Given the description of an element on the screen output the (x, y) to click on. 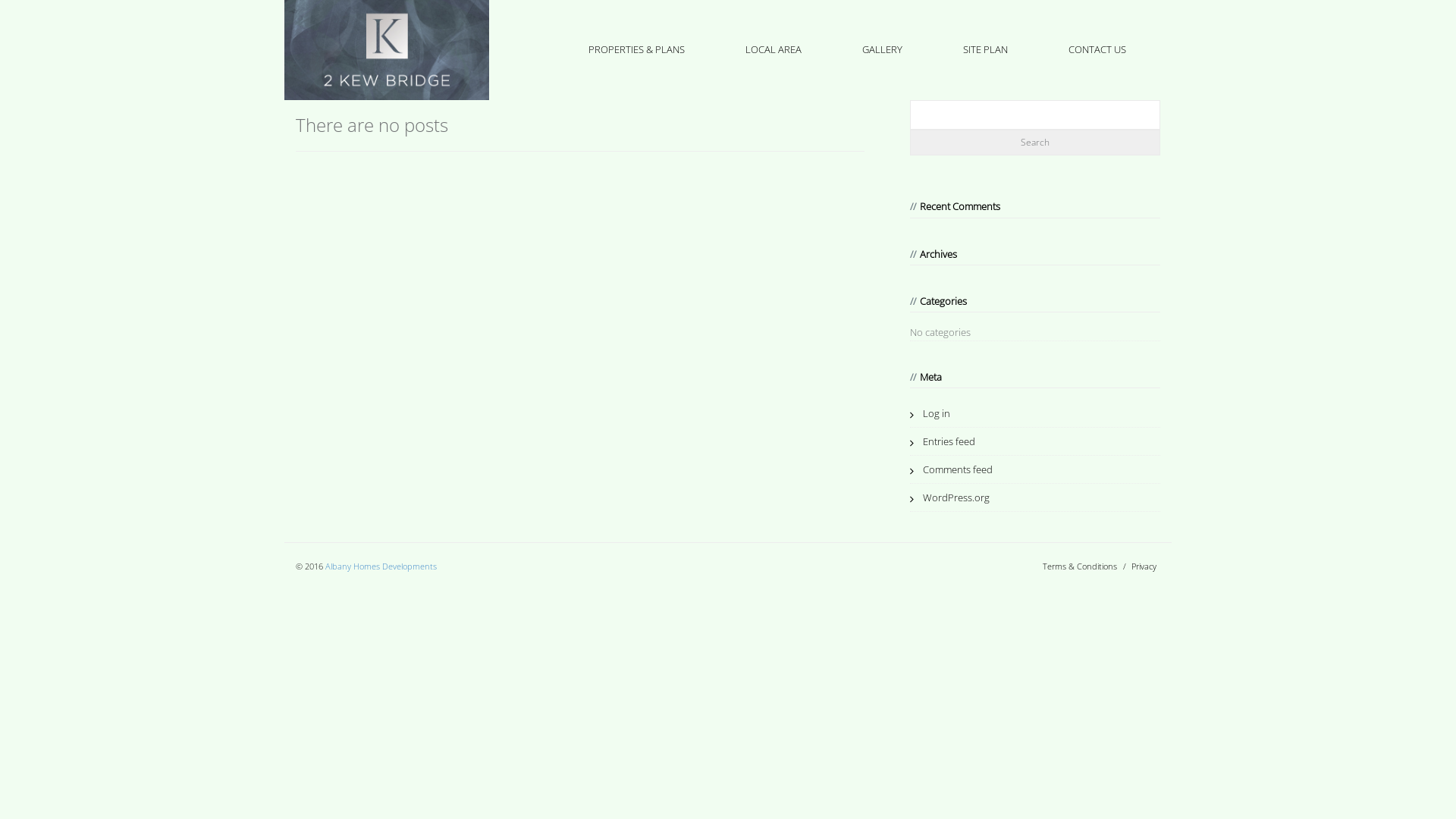
WordPress.org Element type: text (949, 497)
Terms & Conditions Element type: text (1079, 564)
Search Element type: text (1035, 142)
PROPERTIES & PLANS Element type: text (636, 49)
Log in Element type: text (930, 412)
SITE PLAN Element type: text (984, 49)
Albany Homes Developments Element type: text (380, 565)
GALLERY Element type: text (882, 49)
CONTACT US Element type: text (1097, 49)
Entries feed Element type: text (942, 441)
Privacy Element type: text (1143, 564)
Comments feed Element type: text (951, 469)
LOCAL AREA Element type: text (773, 49)
